Given the description of an element on the screen output the (x, y) to click on. 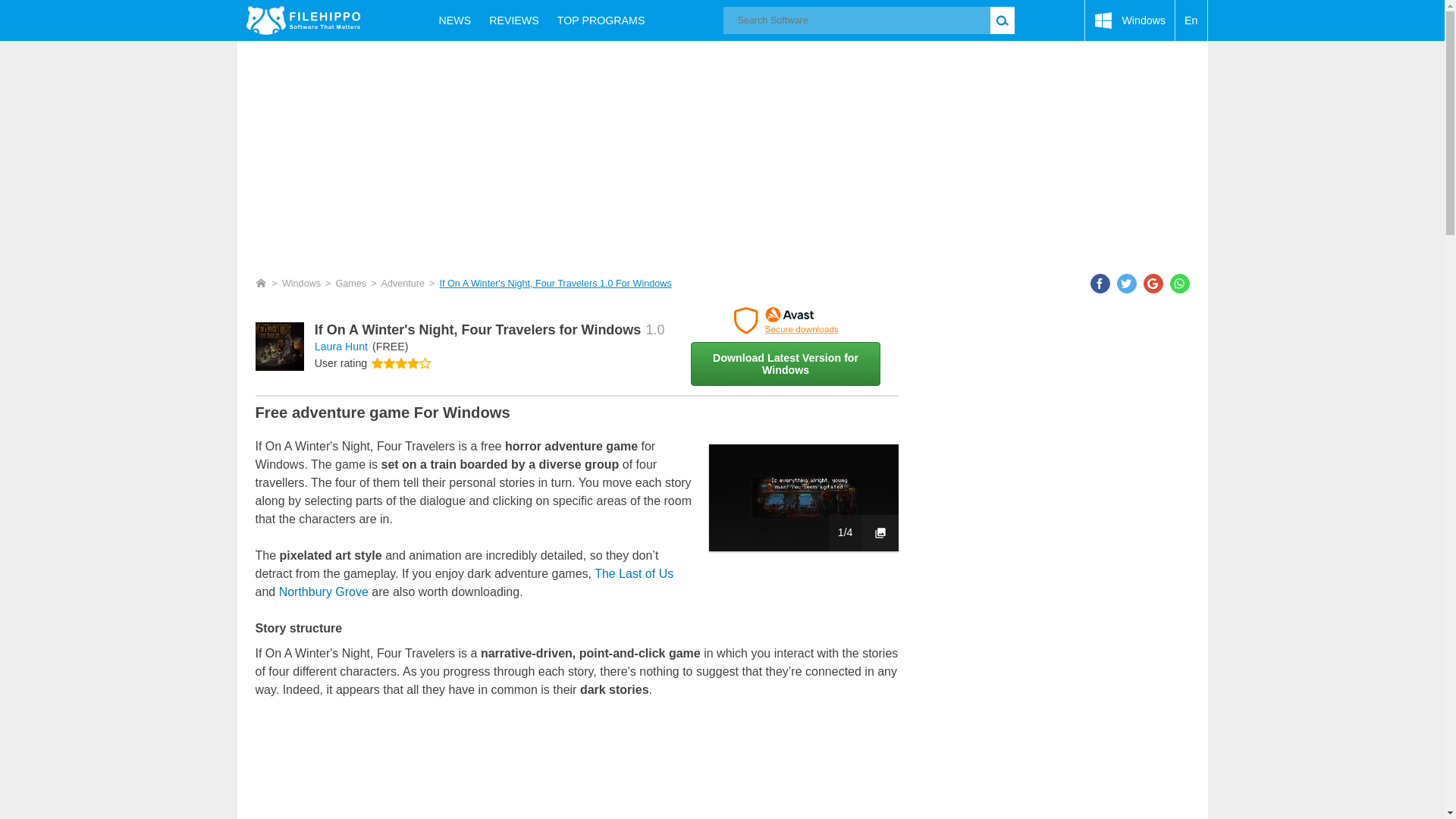
Windows (301, 283)
Windows (1129, 20)
If On A Winter'S Night, Four Travelers 1.0 For Windows (555, 283)
Windows (1129, 20)
NEWS (454, 20)
Reviews (514, 20)
Adventure (403, 283)
TOP PROGRAMS (600, 20)
Filehippo (302, 20)
Games (350, 283)
REVIEWS (514, 20)
News (454, 20)
Top Programs (600, 20)
